Given the description of an element on the screen output the (x, y) to click on. 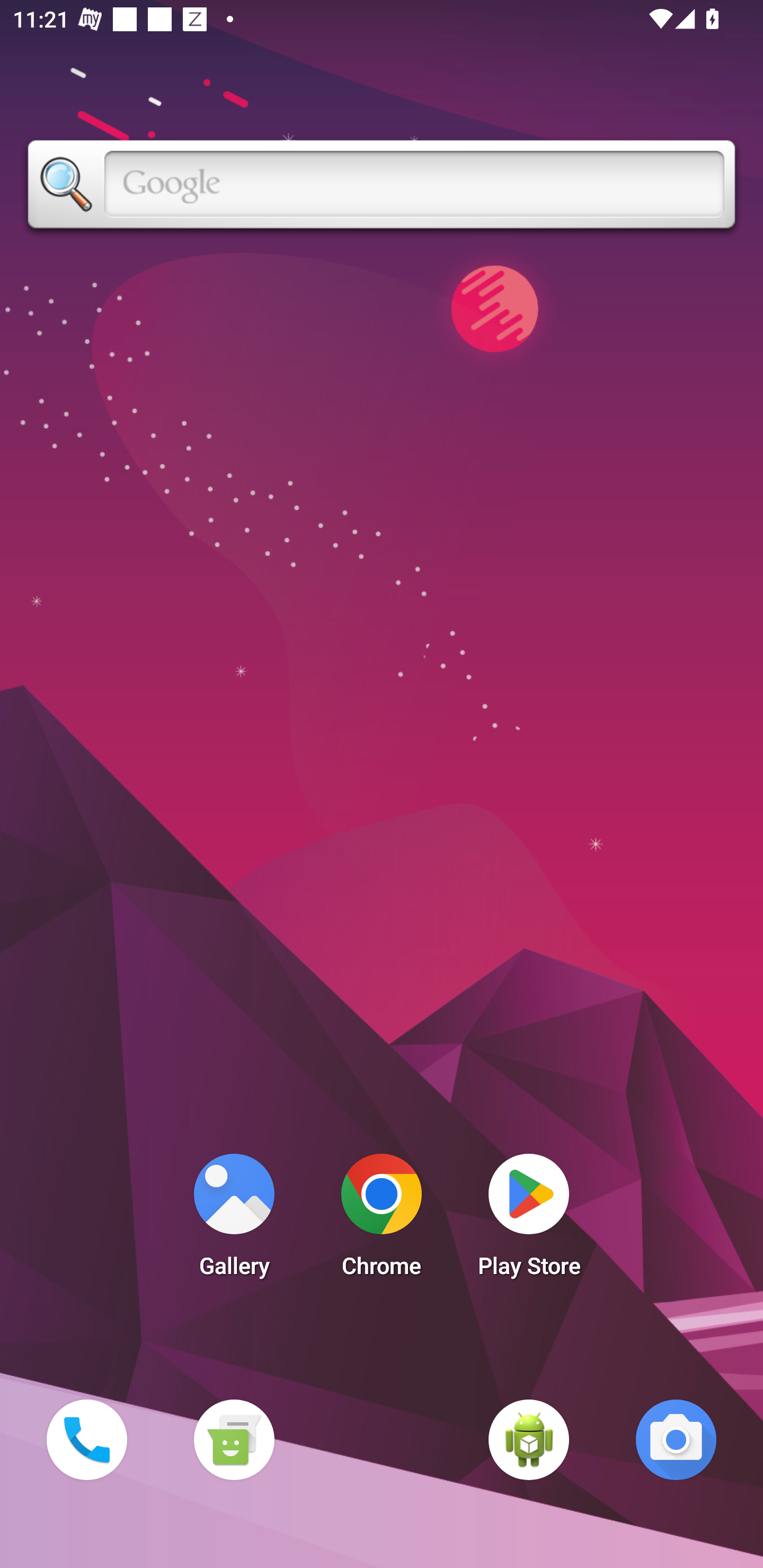
Gallery (233, 1220)
Chrome (381, 1220)
Play Store (528, 1220)
Phone (86, 1439)
Messaging (233, 1439)
WebView Browser Tester (528, 1439)
Camera (676, 1439)
